Given the description of an element on the screen output the (x, y) to click on. 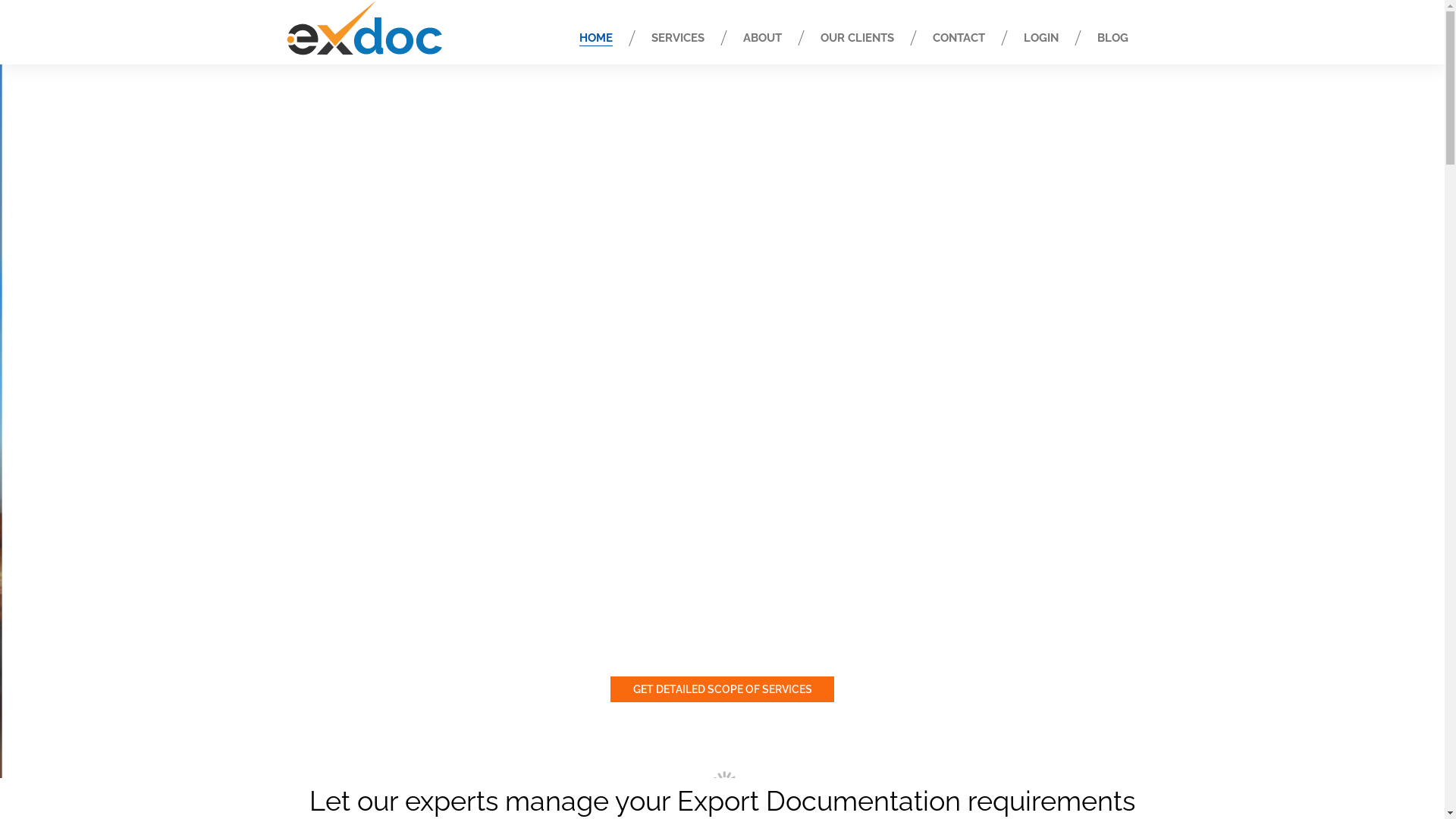
BLOG Element type: text (1111, 37)
LOGIN Element type: text (1040, 37)
SERVICES Element type: text (676, 37)
ABOUT Element type: text (762, 37)
CONTACT Element type: text (958, 37)
OUR CLIENTS Element type: text (857, 37)
GET DETAILED SCOPE OF SERVICES Element type: text (722, 689)
HOME Element type: text (595, 38)
